Given the description of an element on the screen output the (x, y) to click on. 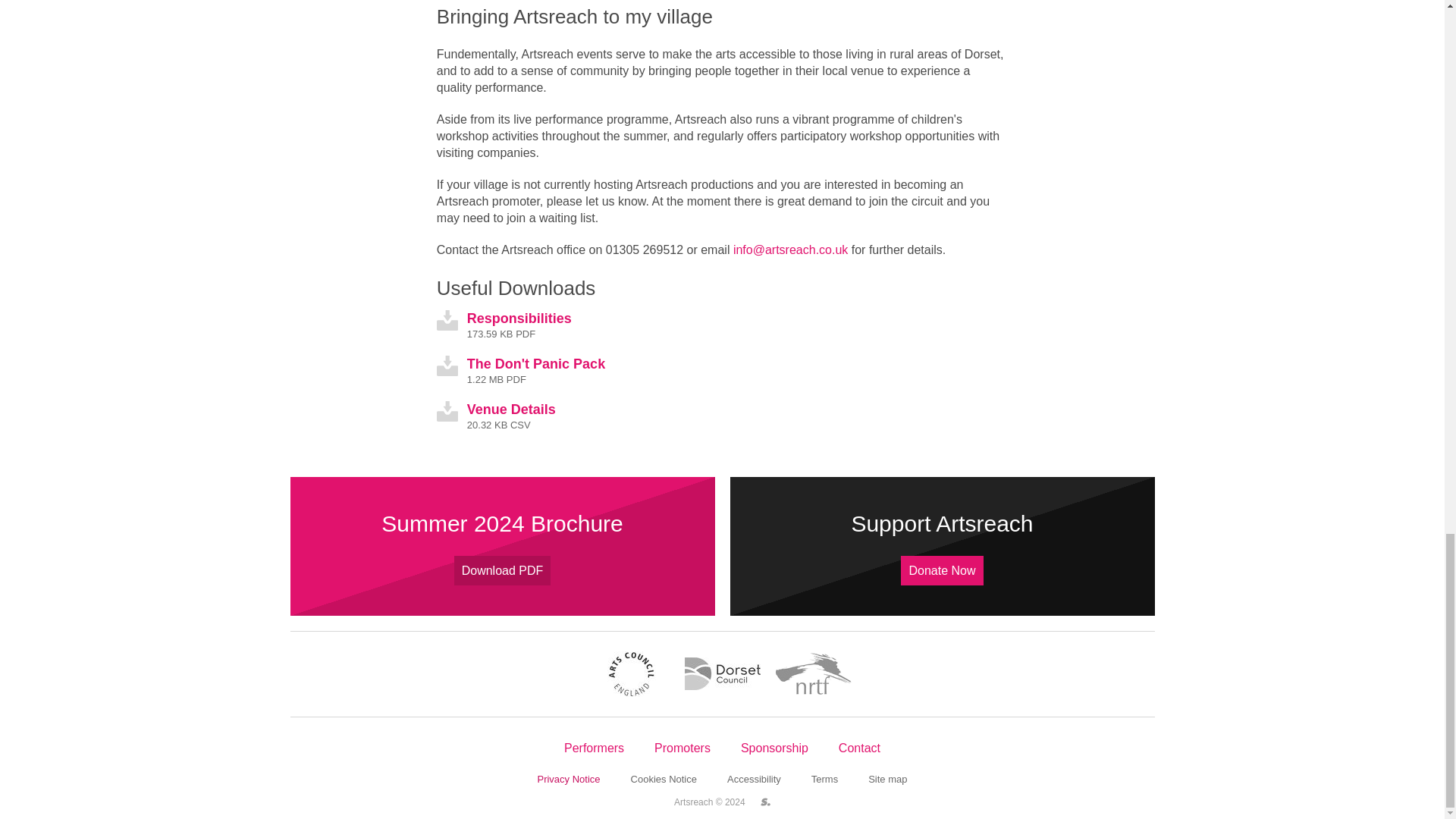
download (447, 365)
download (447, 411)
download (447, 320)
